Given the description of an element on the screen output the (x, y) to click on. 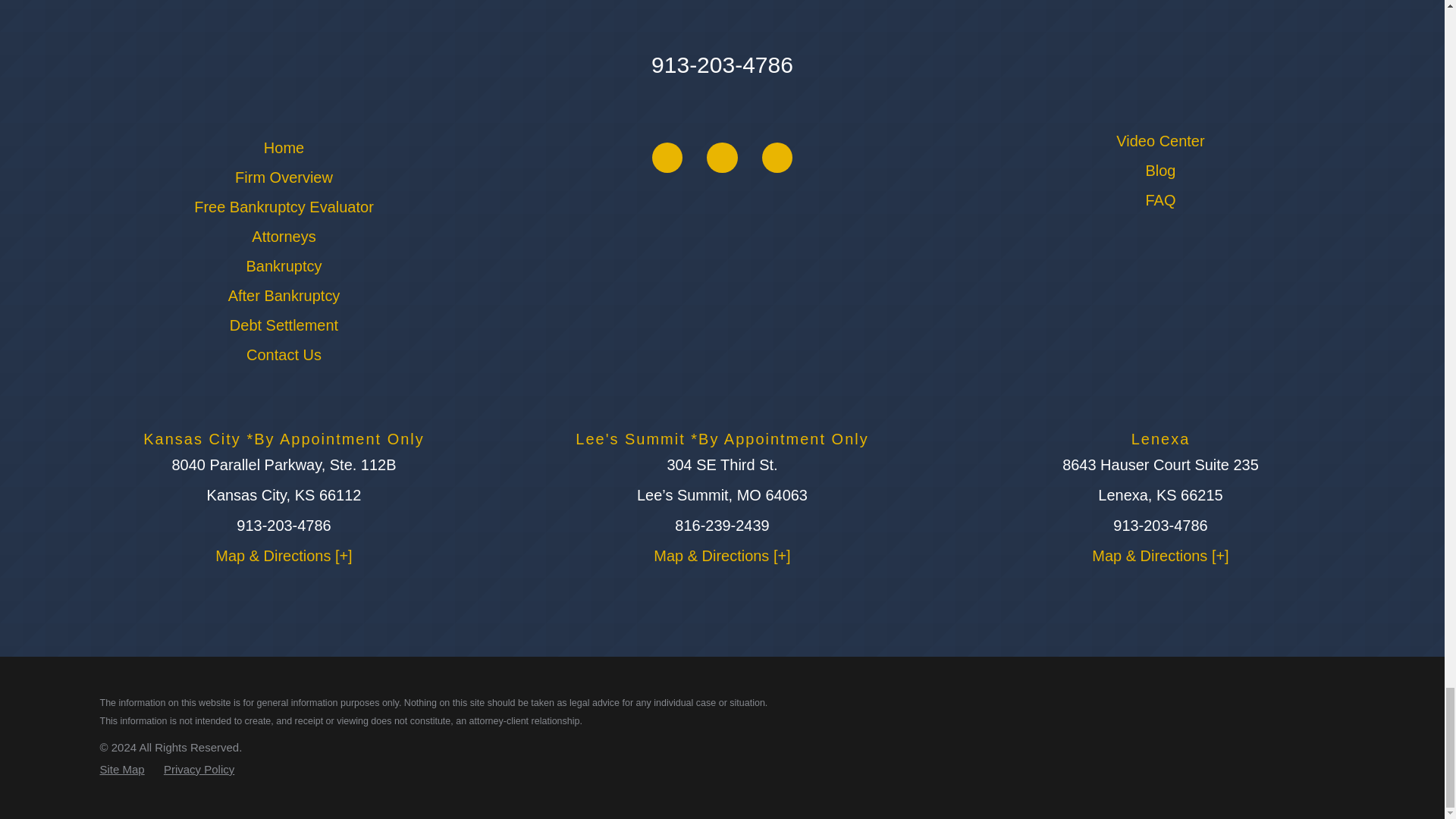
Google Business Profile (667, 157)
BBB.org (776, 157)
Facebook (721, 157)
